Given the description of an element on the screen output the (x, y) to click on. 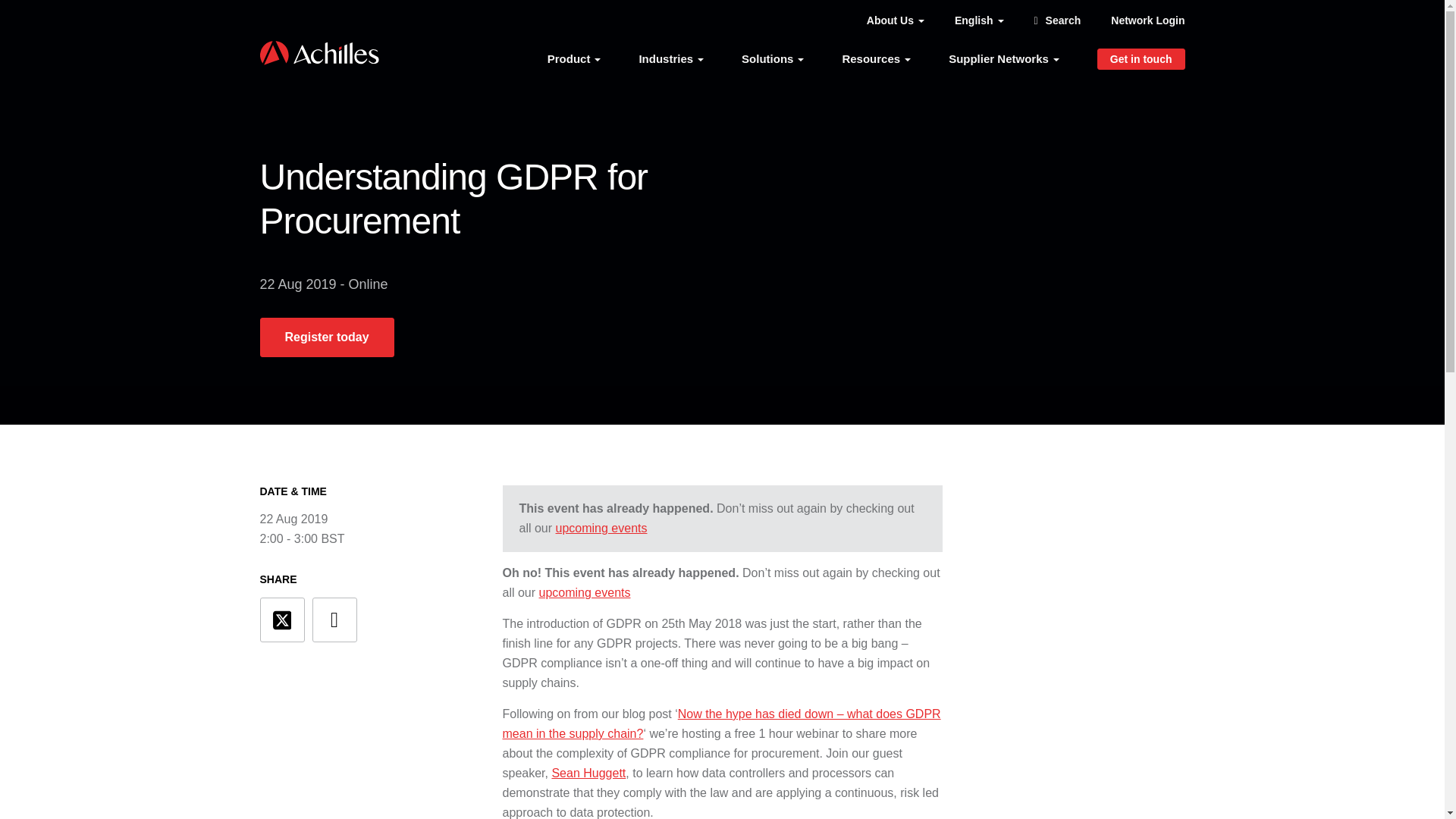
About Us (895, 20)
English (979, 20)
Solutions (772, 58)
Search (1057, 20)
Network Login (1147, 20)
Industries (671, 58)
Product (574, 58)
